Given the description of an element on the screen output the (x, y) to click on. 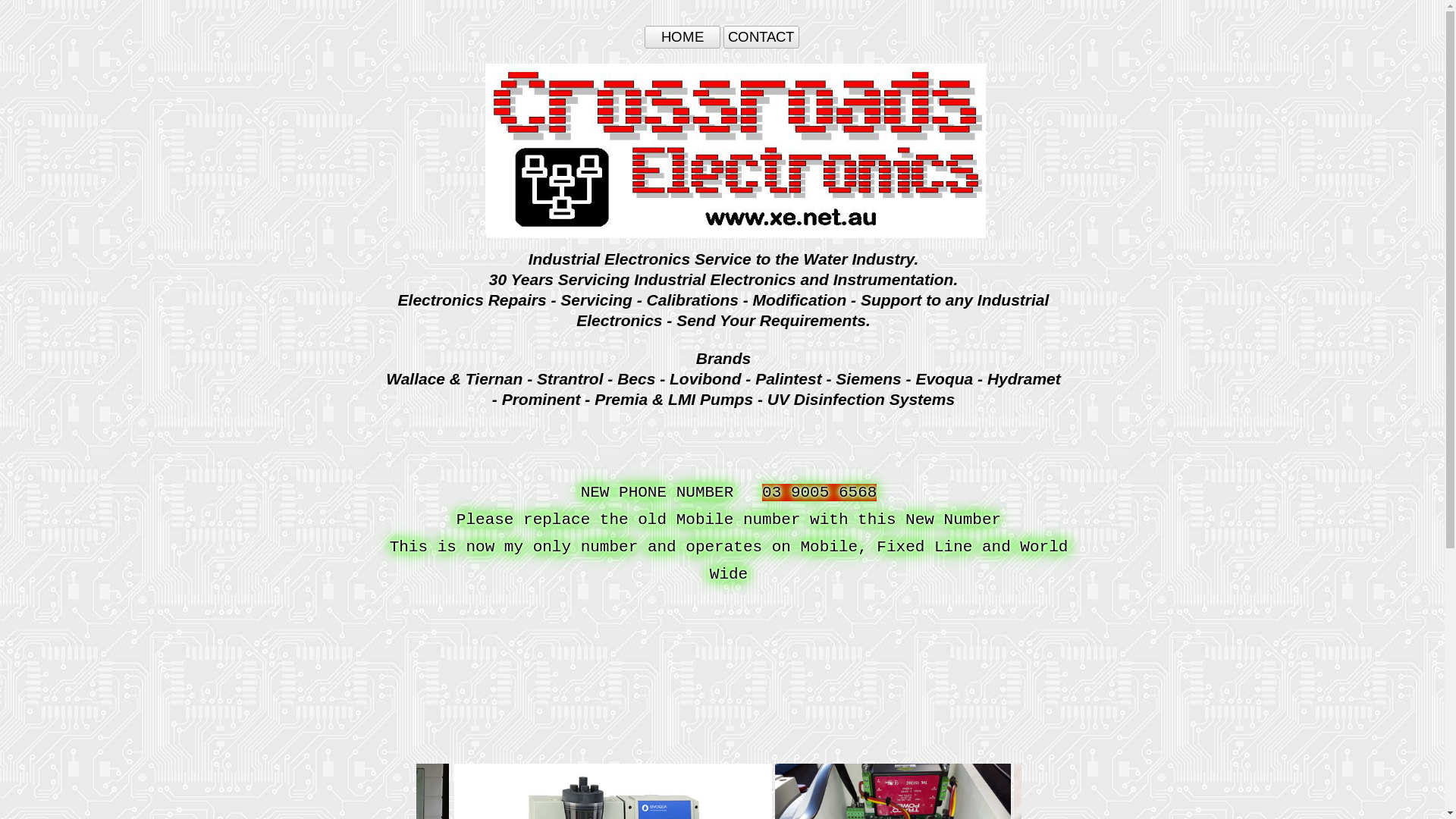
HOME Element type: hover (682, 36)
CONTACT Element type: hover (761, 36)
